Given the description of an element on the screen output the (x, y) to click on. 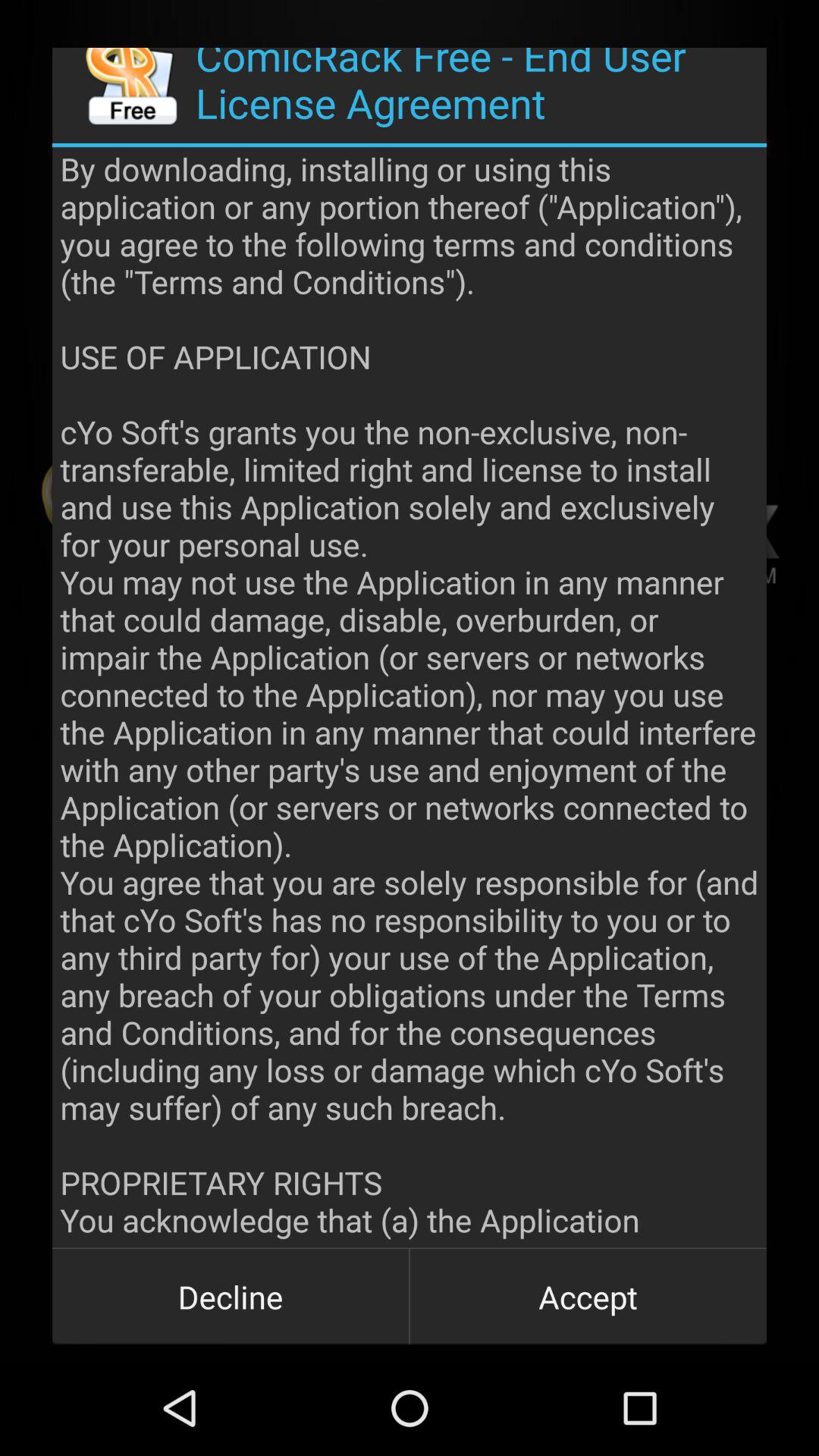
swipe to the by downloading installing (409, 697)
